Given the description of an element on the screen output the (x, y) to click on. 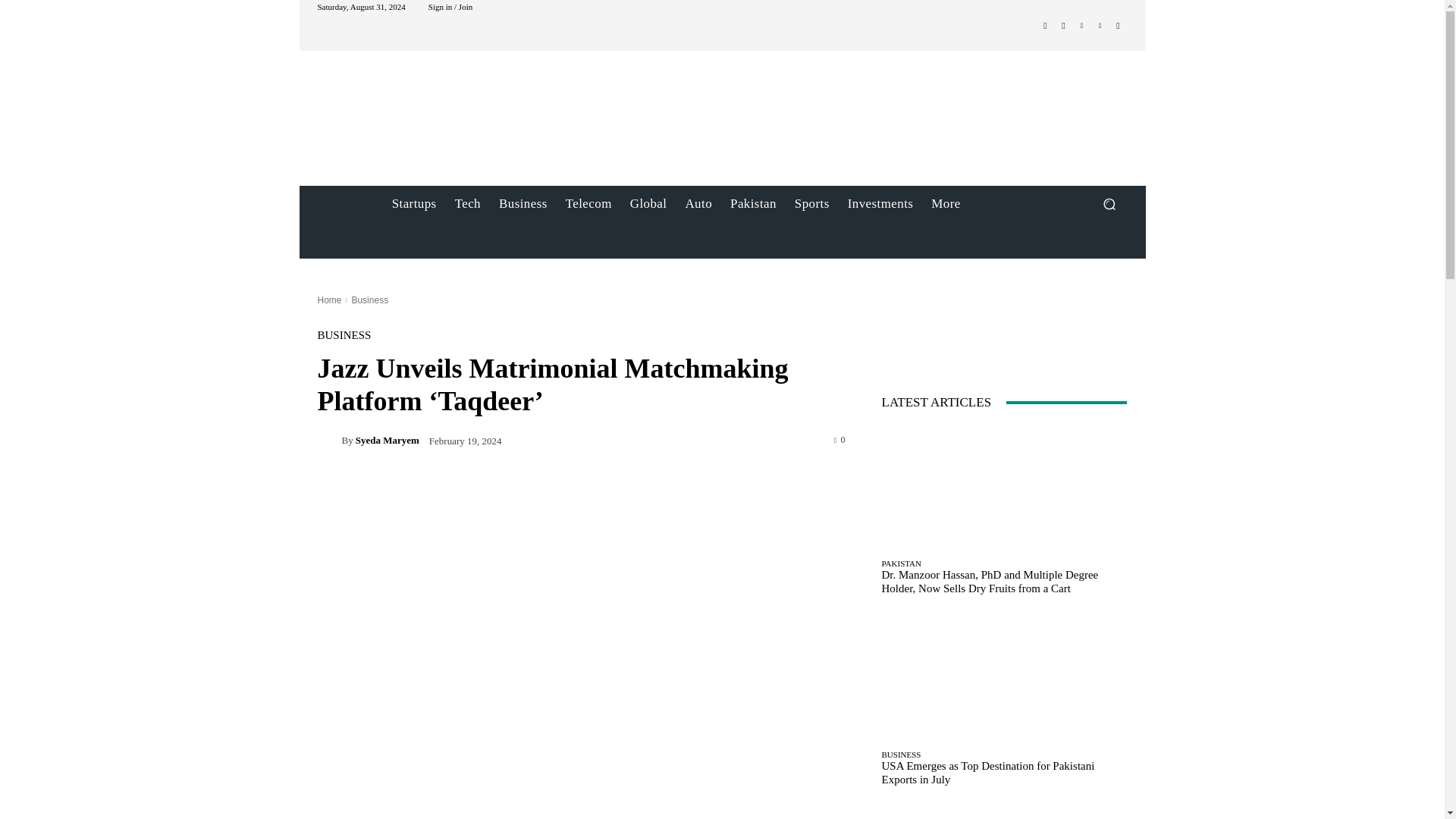
Vimeo (1099, 25)
Global (649, 203)
Telecom (588, 203)
Startups (413, 203)
View all posts in Business (369, 299)
Syeda Maryem (328, 439)
Twitter (1080, 25)
Youtube (1117, 25)
More (945, 203)
Business (522, 203)
